Given the description of an element on the screen output the (x, y) to click on. 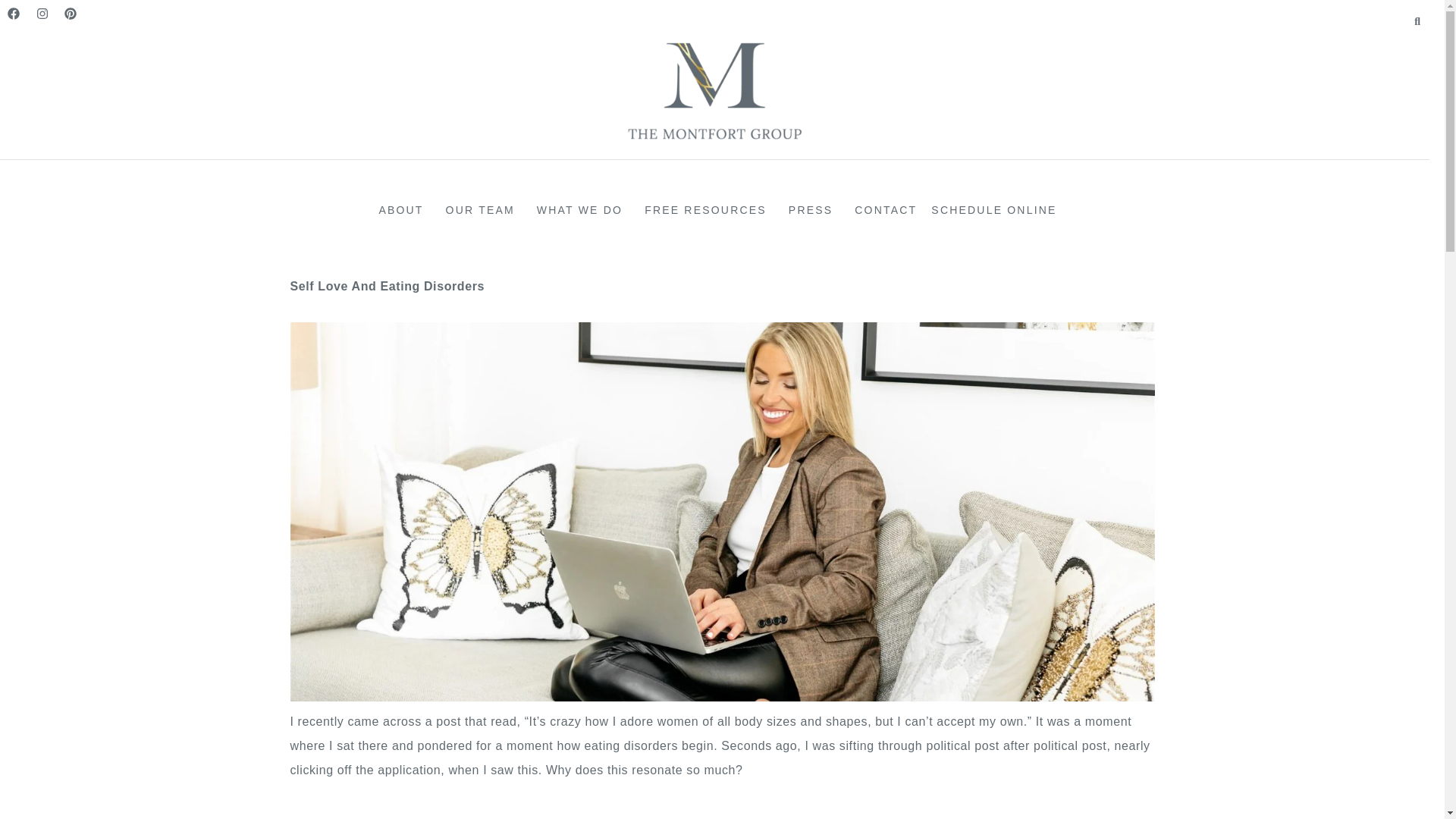
PRESS (814, 209)
Contact Us (885, 209)
WHAT WE DO (583, 209)
FREE RESOURCES (709, 209)
OUR TEAM (484, 209)
ABOUT (404, 209)
